Given the description of an element on the screen output the (x, y) to click on. 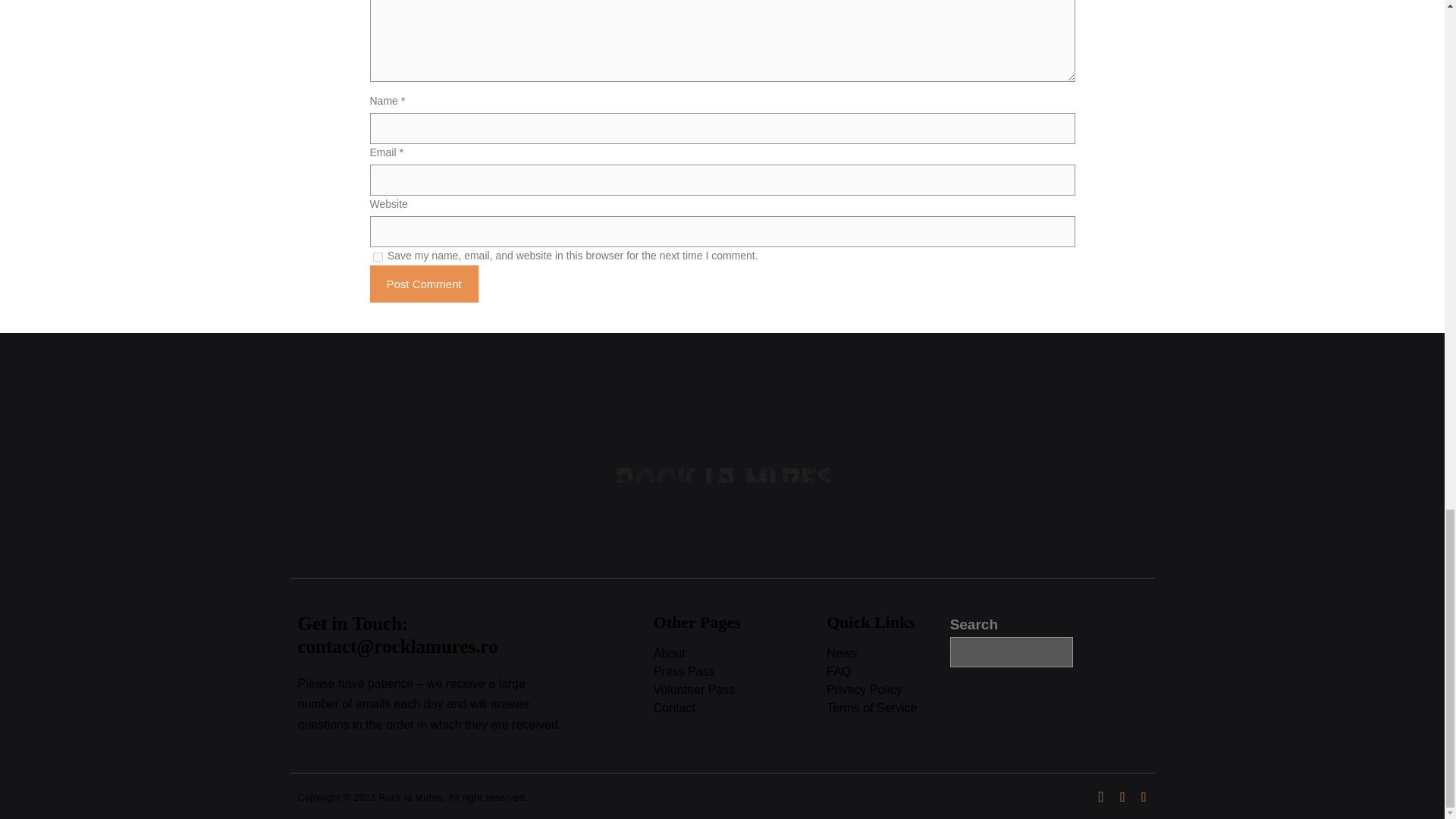
FAQ (888, 671)
About (740, 653)
Press Pass (740, 671)
Privacy Policy (888, 689)
News (888, 653)
Terms of Service (888, 707)
Post Comment (424, 284)
Post Comment (424, 284)
Volunteer Pass (740, 689)
Contact (740, 707)
